Given the description of an element on the screen output the (x, y) to click on. 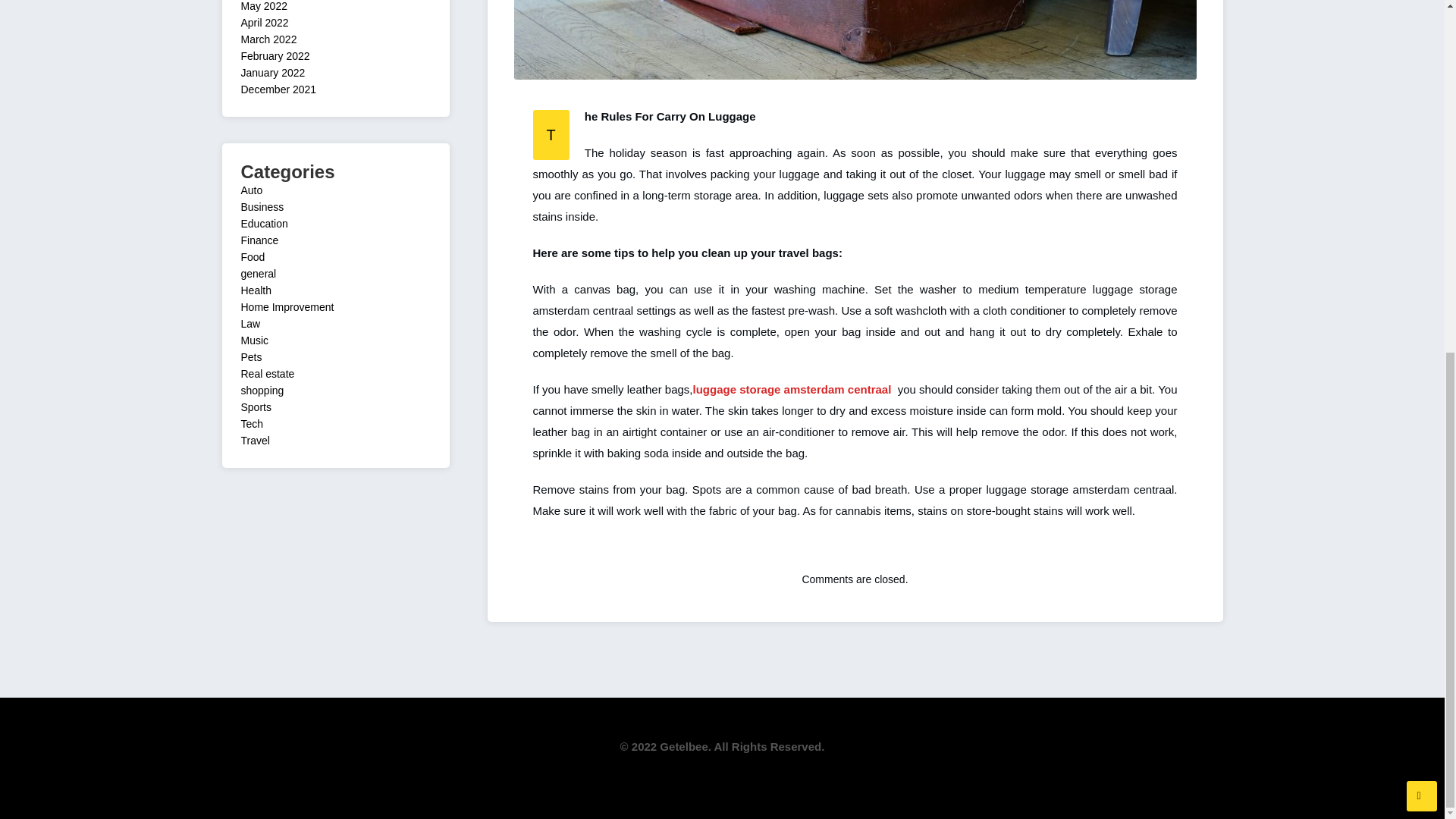
January 2022 (273, 72)
February 2022 (275, 55)
April 2022 (264, 22)
luggage storage amsterdam centraal (792, 389)
March 2022 (269, 39)
May 2022 (263, 6)
